Given the description of an element on the screen output the (x, y) to click on. 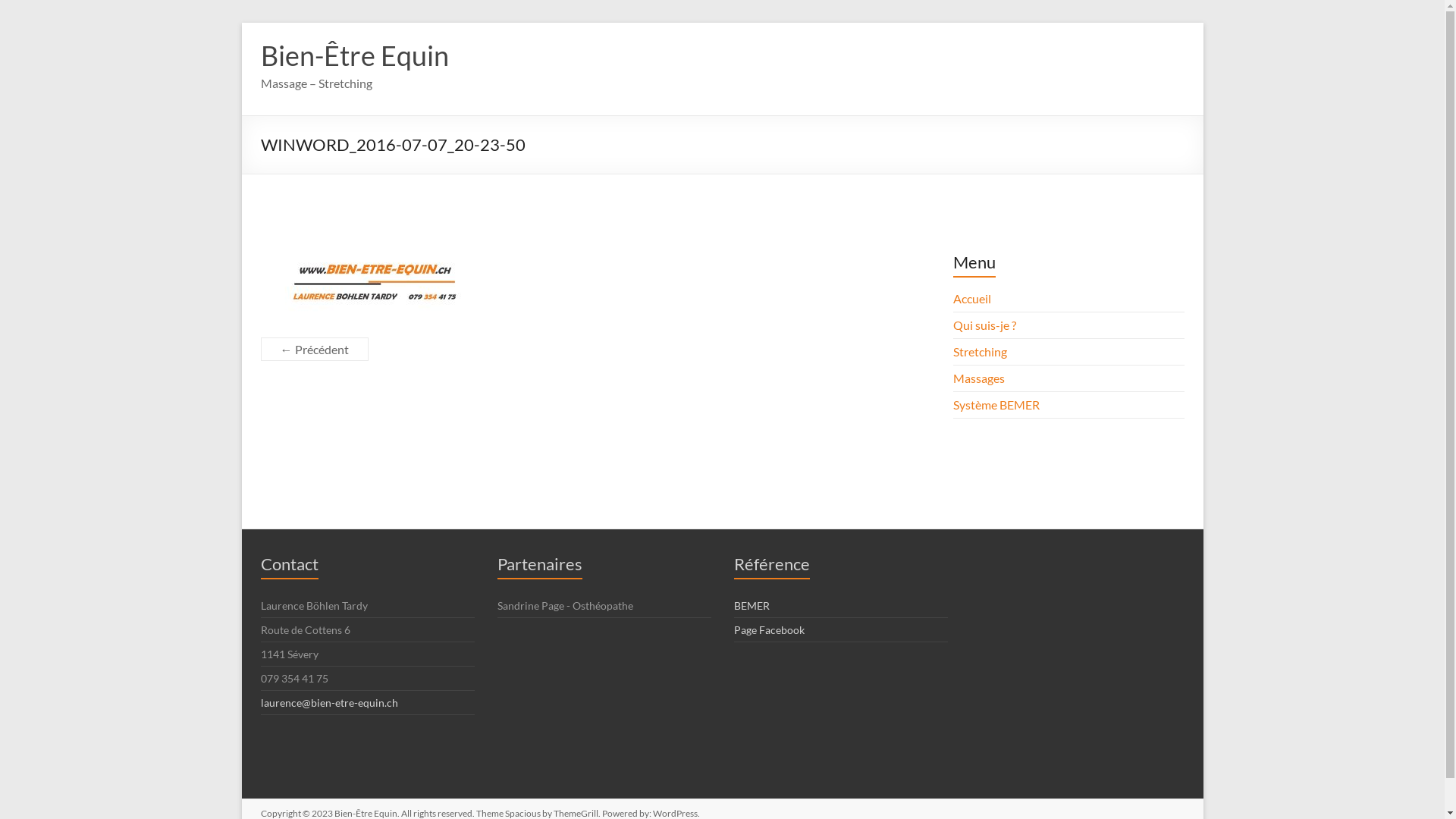
Qui suis-je ? Element type: text (984, 324)
Stretching Element type: text (980, 351)
Accueil Element type: text (972, 298)
BEMER Element type: text (751, 605)
Page Facebook Element type: text (769, 629)
Massages Element type: text (978, 377)
laurence@bien-etre-equin.ch Element type: text (329, 702)
Aller au contenu Element type: text (241, 21)
